Given the description of an element on the screen output the (x, y) to click on. 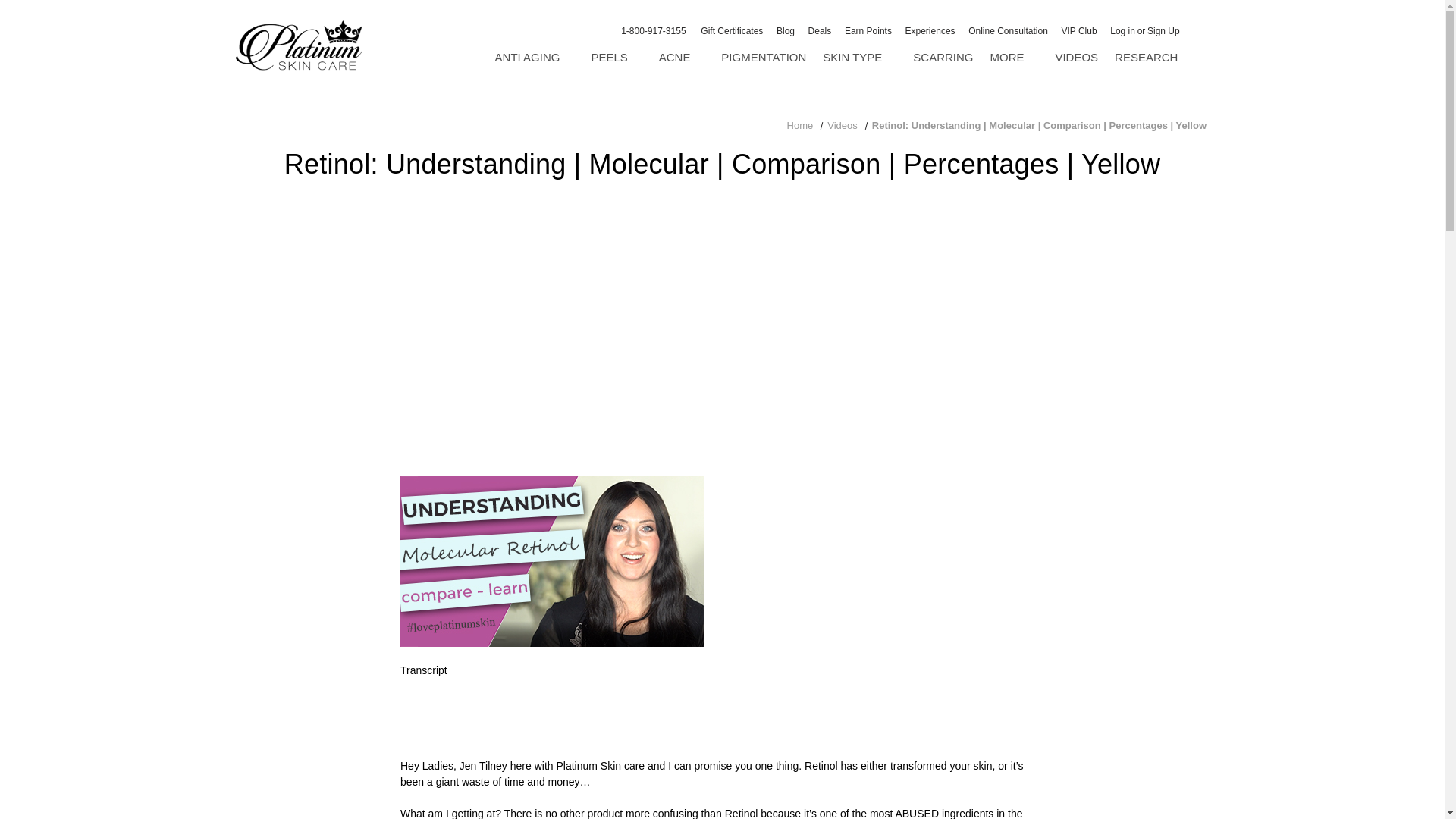
Platinum Skin Care (297, 45)
Deals (820, 30)
Log in (1122, 30)
Online Consultation (1007, 30)
Blog (786, 30)
VIP Club (1078, 30)
Gift Certificates (732, 30)
ANTI AGING (534, 57)
Earn Points (868, 30)
Sign Up (1163, 30)
Experiences (930, 30)
1-800-917-3155 (643, 32)
